Given the description of an element on the screen output the (x, y) to click on. 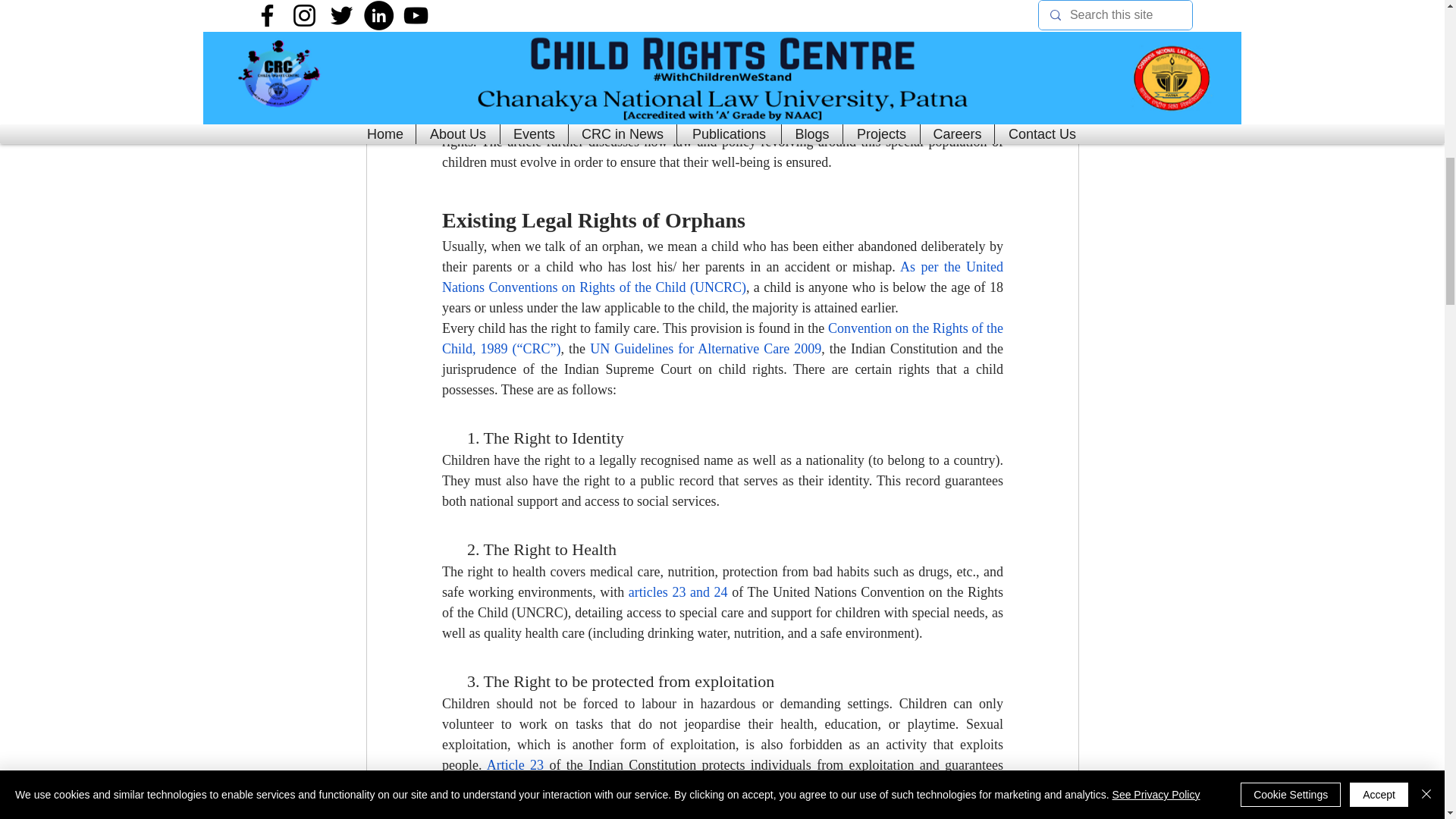
articles 23 and 24 (676, 591)
Article 23 (514, 765)
2005-06 record (534, 18)
UN Guidelines for Alternative Care 2009 (705, 348)
577 children lost their parents (723, 69)
